Given the description of an element on the screen output the (x, y) to click on. 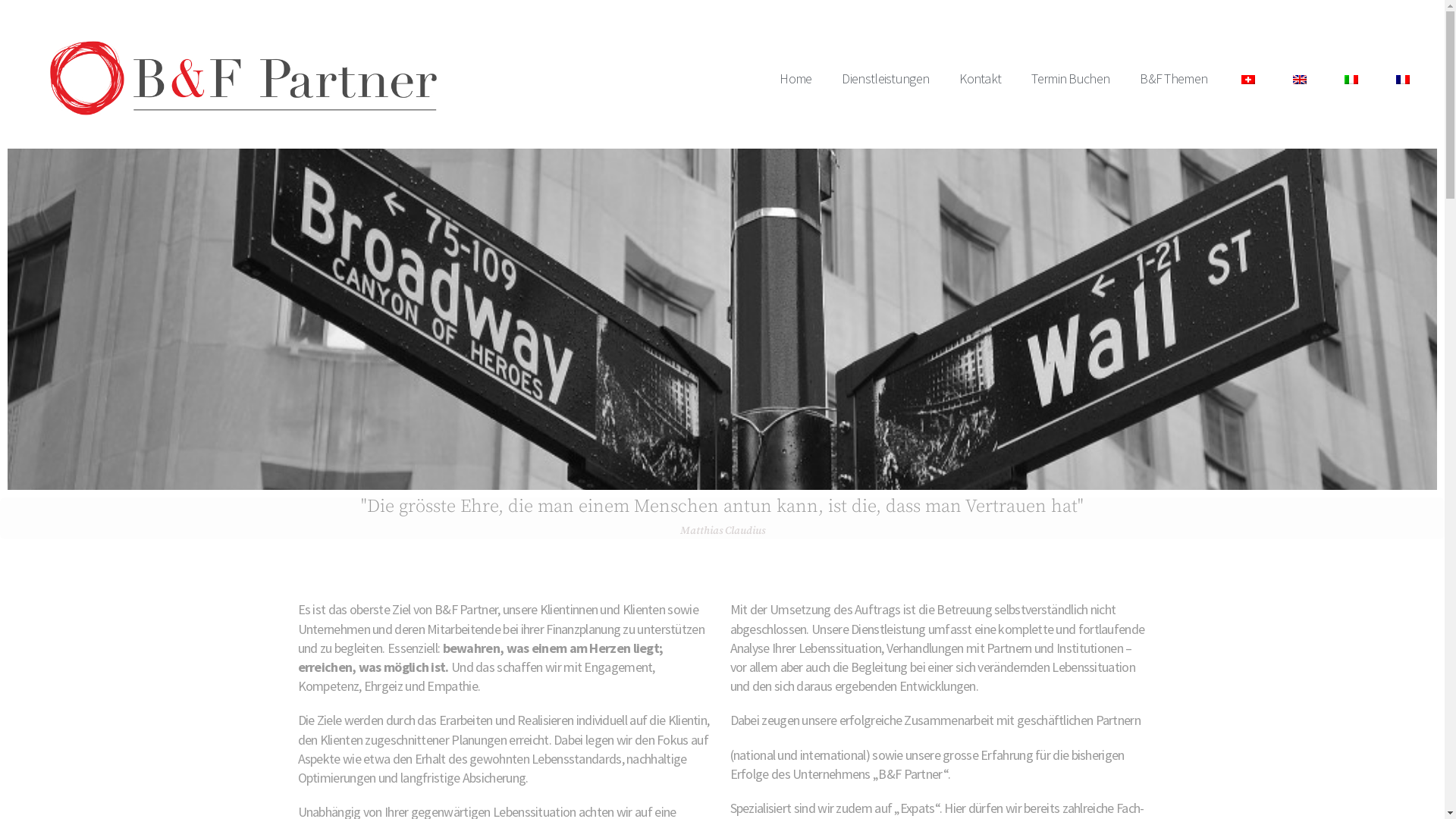
Dienstleistungen Element type: text (885, 78)
English (UK) Element type: hover (1299, 79)
B&F Themen Element type: text (1173, 78)
Home Element type: text (795, 78)
Deutsch (Schweiz) Element type: hover (1248, 79)
Termin Buchen Element type: text (1070, 78)
Kontakt Element type: text (980, 78)
Italiano Element type: hover (1351, 79)
